Given the description of an element on the screen output the (x, y) to click on. 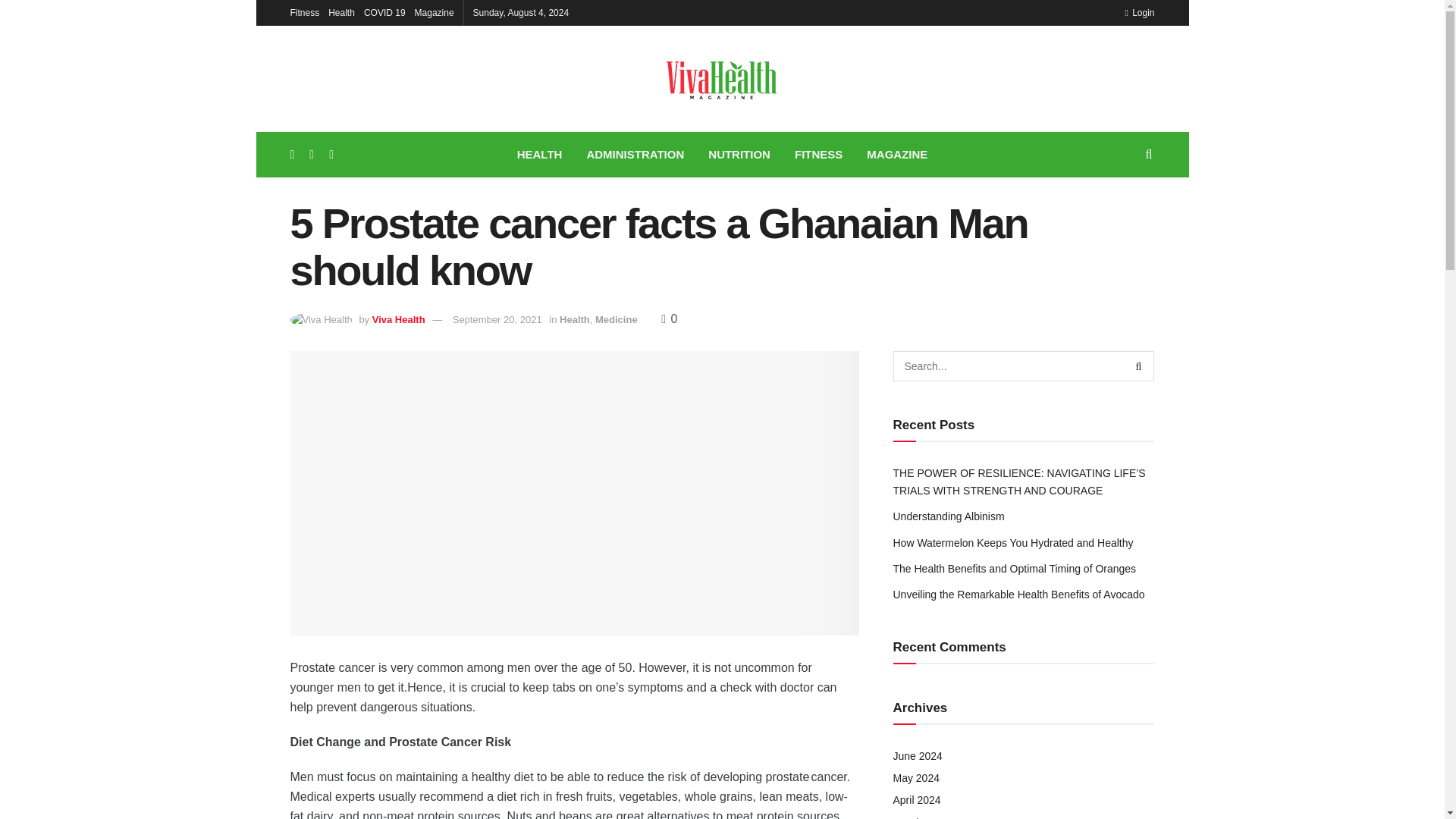
HEALTH (540, 154)
COVID 19 (385, 12)
Magazine (434, 12)
Health (342, 12)
Fitness (303, 12)
Login (1139, 12)
